Given the description of an element on the screen output the (x, y) to click on. 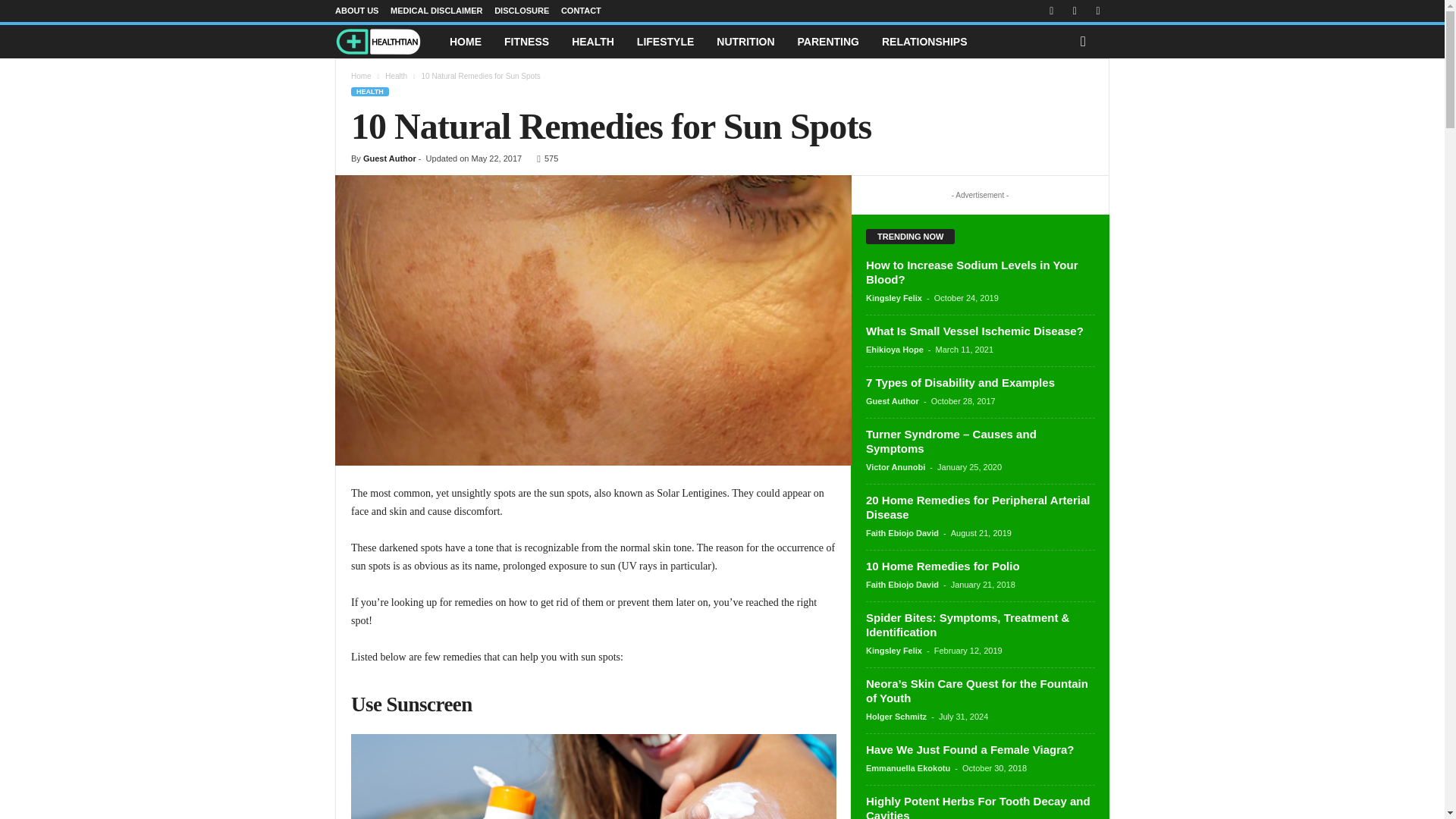
Health (396, 76)
View all posts in Health (396, 76)
Home (360, 76)
ABOUT US (356, 10)
RELATIONSHIPS (924, 41)
LIFESTYLE (665, 41)
HEALTH (369, 91)
PARENTING (828, 41)
NUTRITION (745, 41)
FITNESS (526, 41)
DISCLOSURE (521, 10)
HOME (465, 41)
HEALTH (593, 41)
Guest Author (389, 157)
